Given the description of an element on the screen output the (x, y) to click on. 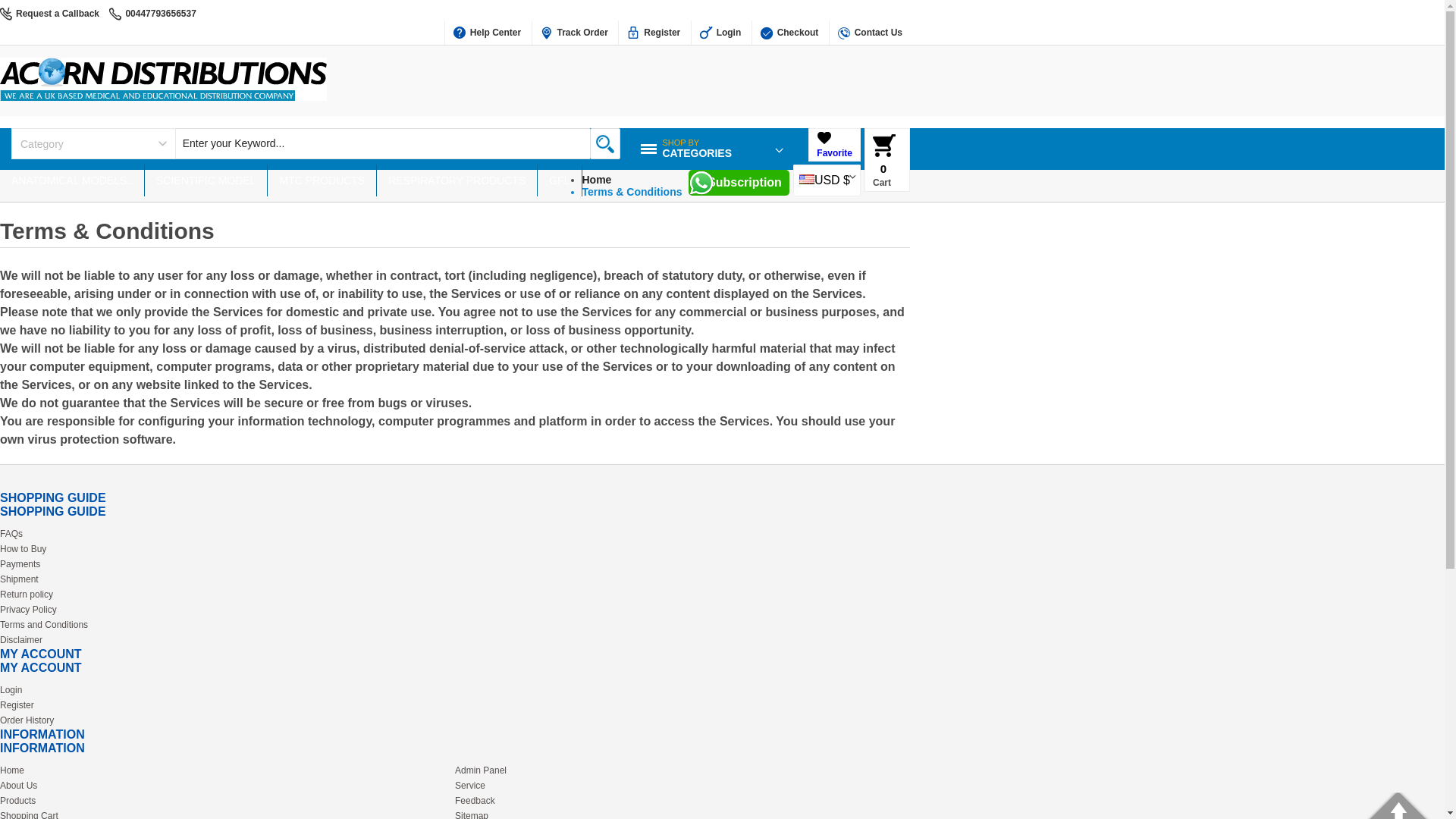
Register (652, 32)
Shopping Cart (883, 145)
Contact Us (697, 158)
Help Center (869, 32)
ANATOMICAL MODELS.. (486, 32)
Request a Callback (72, 180)
Favorite (57, 13)
Home (833, 153)
Weblink Cart (596, 179)
Checkout (163, 96)
SCIENTIFIC MODEL (789, 32)
Login (205, 180)
GFL (720, 32)
Track Order (558, 180)
